Given the description of an element on the screen output the (x, y) to click on. 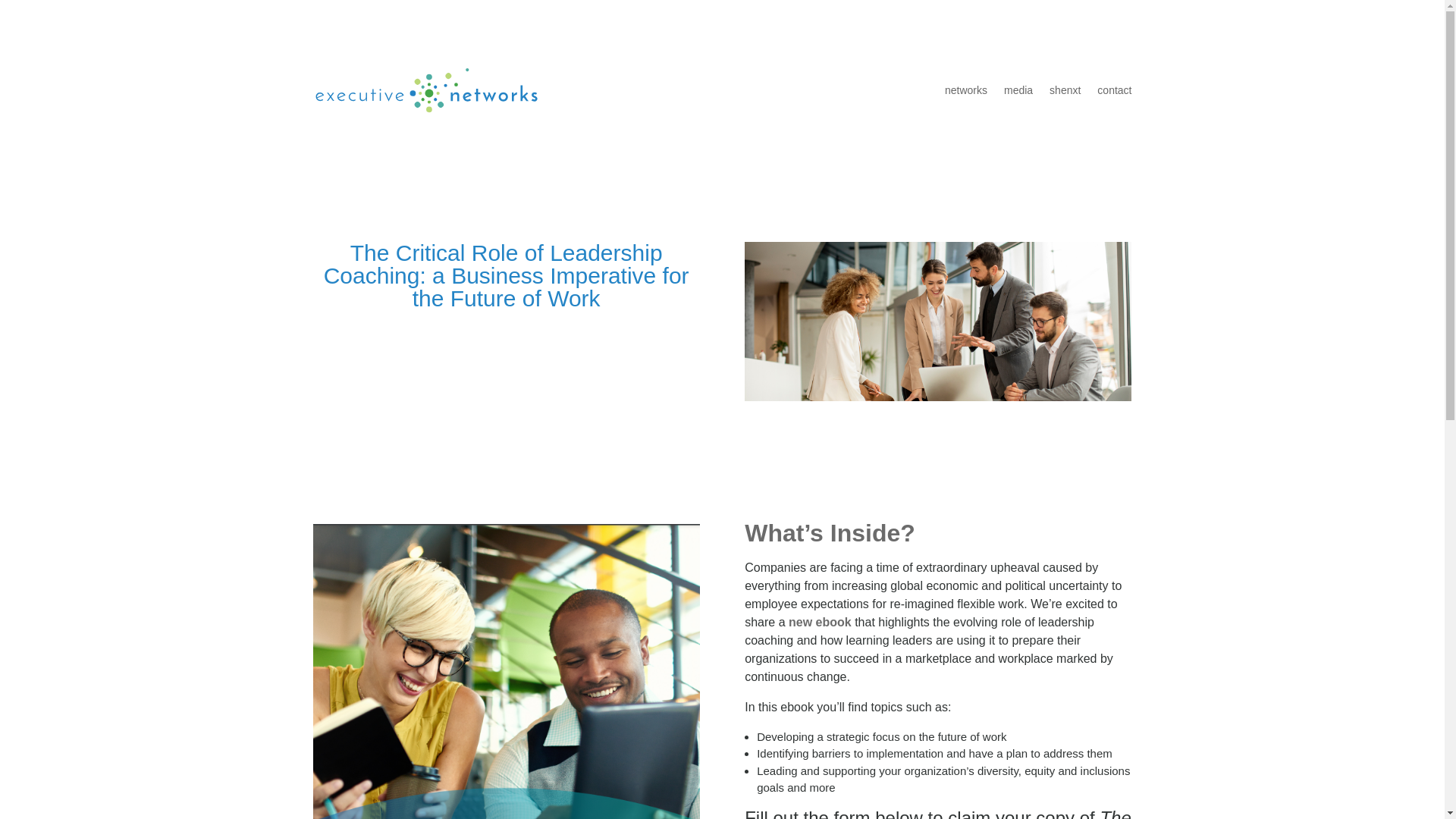
The Critical Role of Leadership Coaching Header (937, 321)
The Critical Role of Leadership Coaching Cover (505, 671)
